Given the description of an element on the screen output the (x, y) to click on. 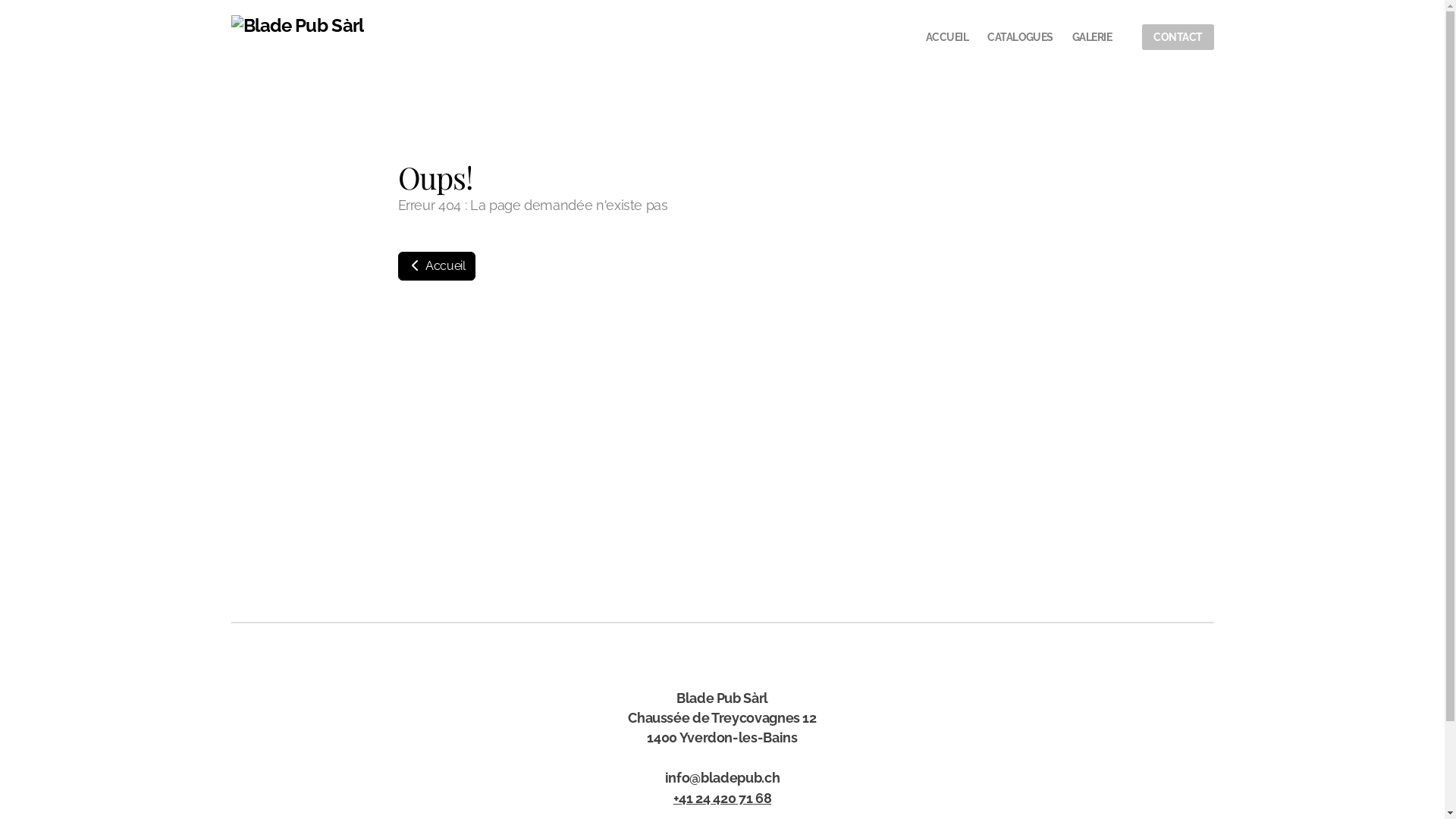
Accueil Element type: text (435, 265)
CATALOGUES Element type: text (1019, 37)
+41 24 420 71 68 Element type: text (722, 798)
GALERIE Element type: text (1091, 37)
CONTACT Element type: text (1177, 37)
ACCUEIL Element type: text (946, 37)
